Given the description of an element on the screen output the (x, y) to click on. 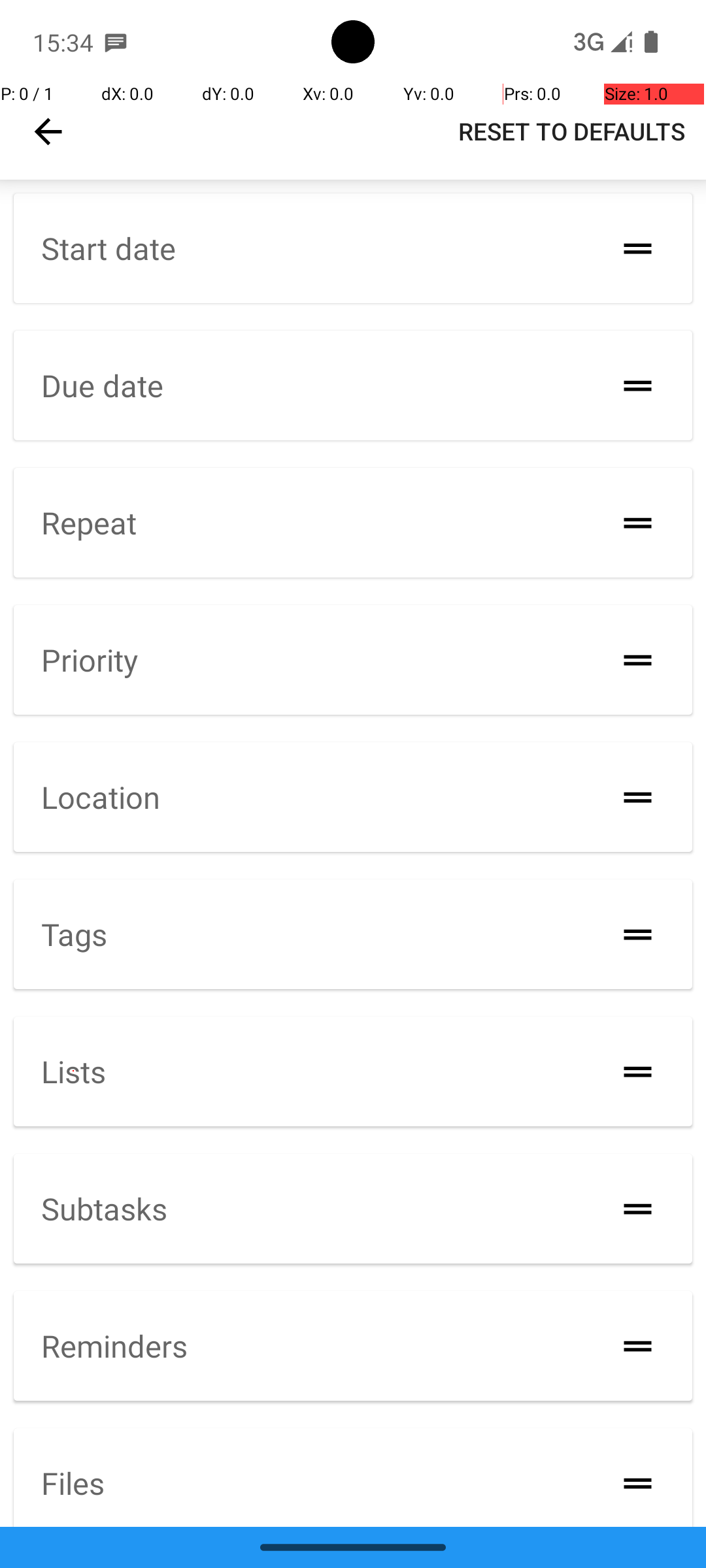
RESET TO DEFAULTS Element type: android.widget.Button (571, 131)
Start date Element type: android.widget.TextView (108, 247)
Lists Element type: android.widget.TextView (73, 1070)
Reminders Element type: android.widget.TextView (114, 1345)
